Given the description of an element on the screen output the (x, y) to click on. 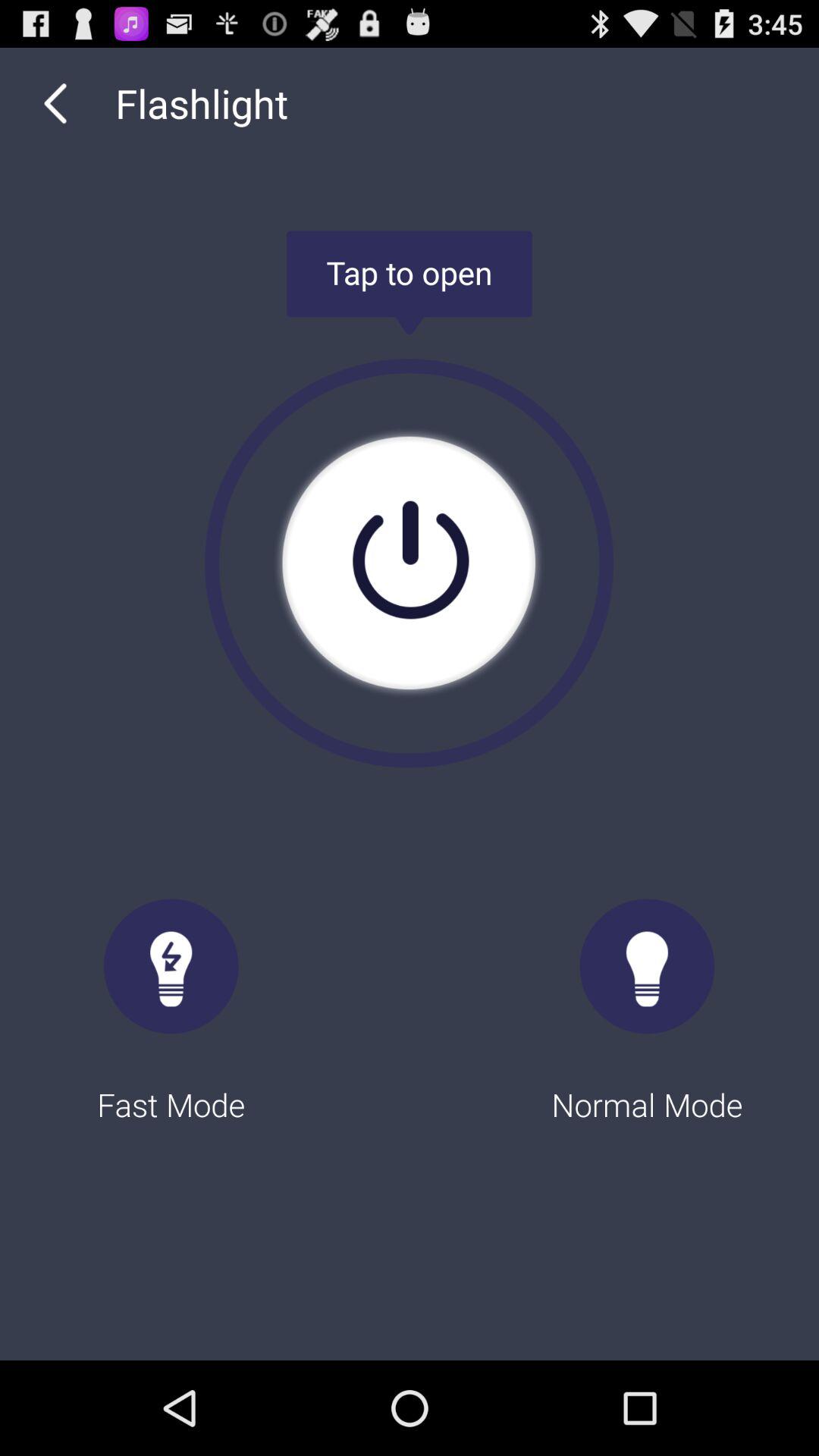
jump to the fast mode (171, 996)
